Given the description of an element on the screen output the (x, y) to click on. 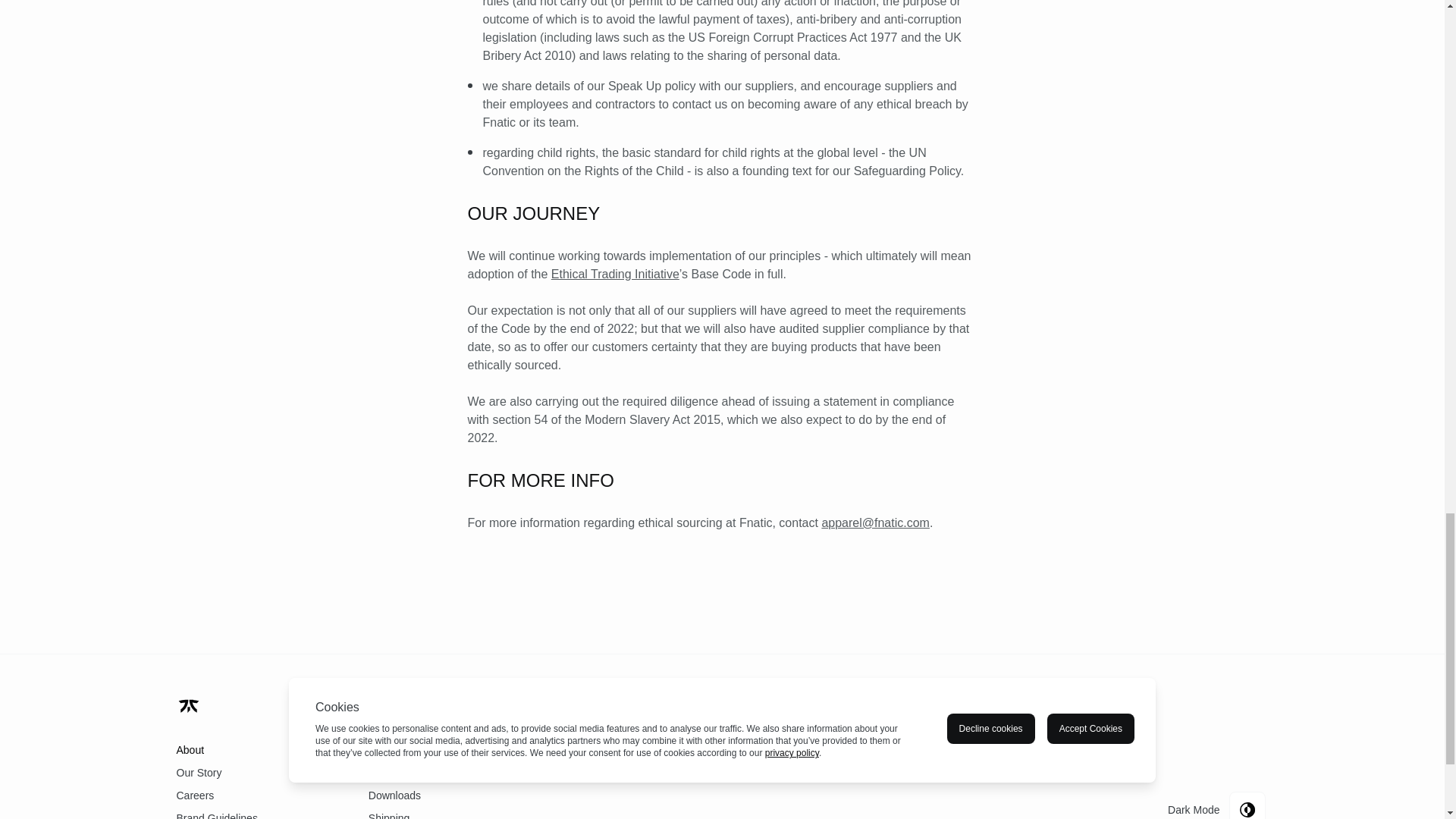
Ethical Trading Initiative (615, 273)
Careers (256, 794)
Our Story (256, 772)
Safeguarding Policy (906, 170)
Brand Guidelines (256, 812)
Speak Up (634, 85)
